Given the description of an element on the screen output the (x, y) to click on. 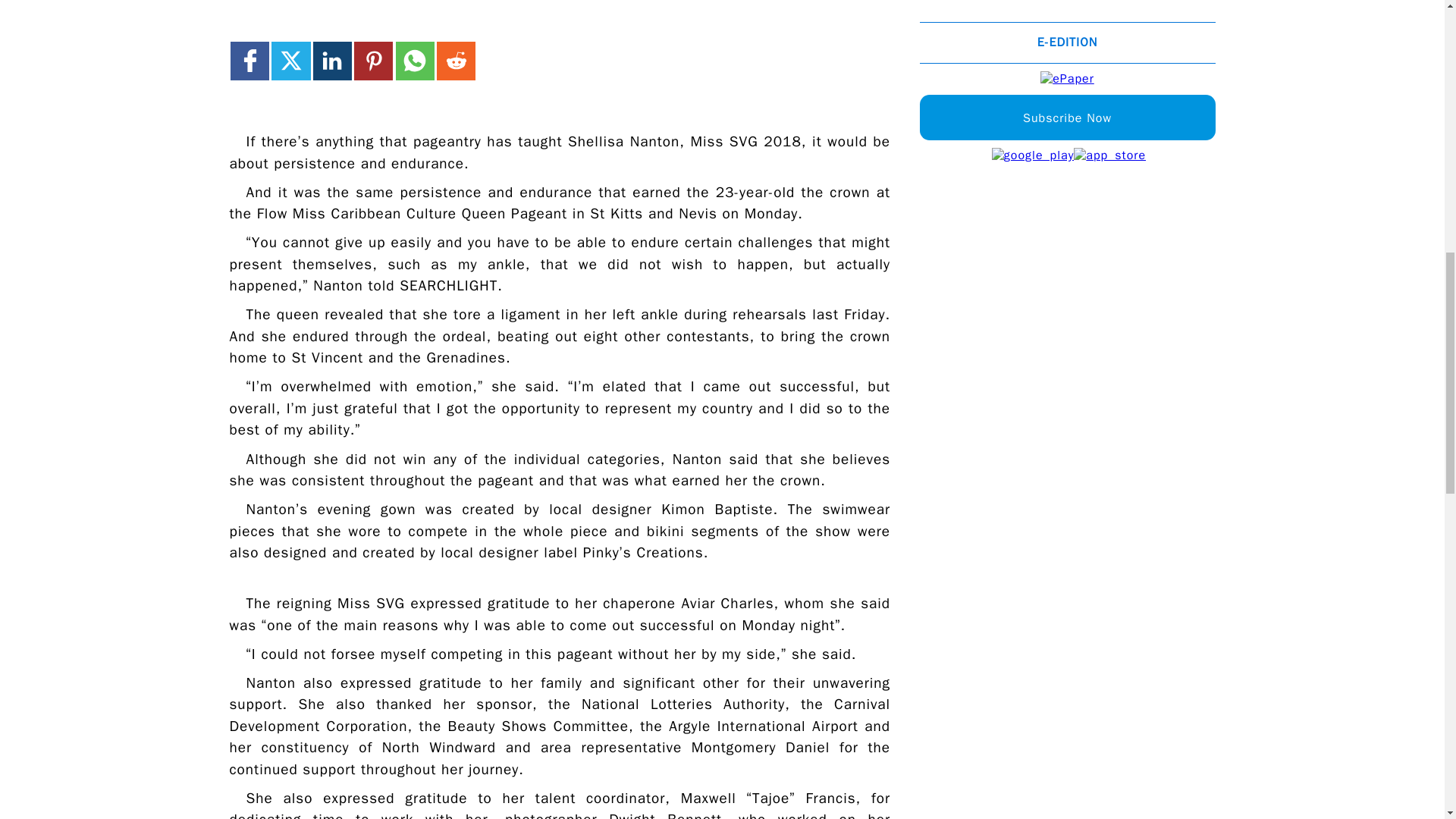
ePaper (1067, 78)
